Given the description of an element on the screen output the (x, y) to click on. 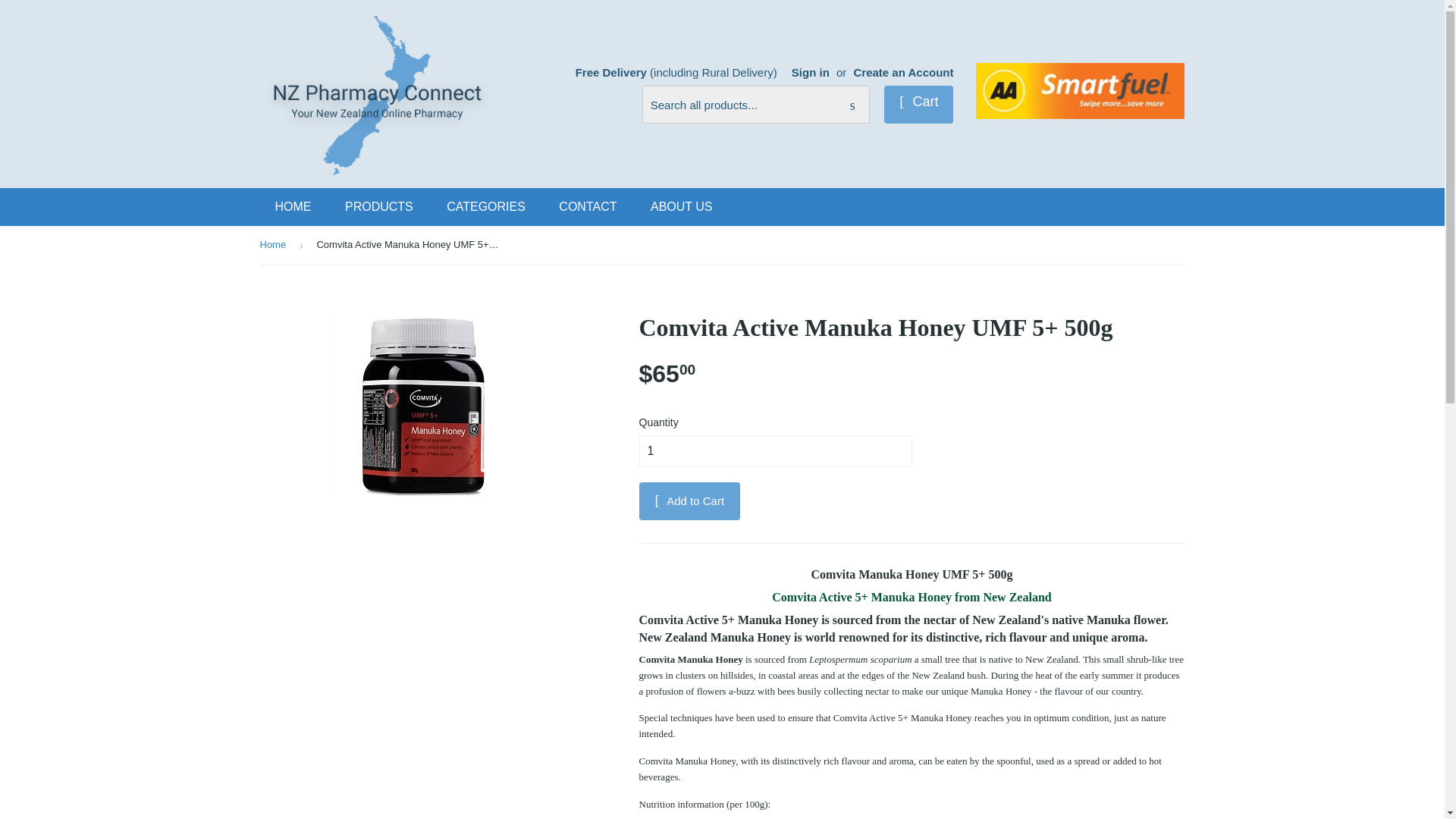
CATEGORIES (485, 207)
1 (775, 450)
Search (852, 104)
CONTACT (587, 207)
Cart (918, 104)
Add to Cart (689, 501)
ABOUT US (681, 207)
Sign in (810, 72)
Create an Account (903, 72)
PRODUCTS (379, 207)
